Given the description of an element on the screen output the (x, y) to click on. 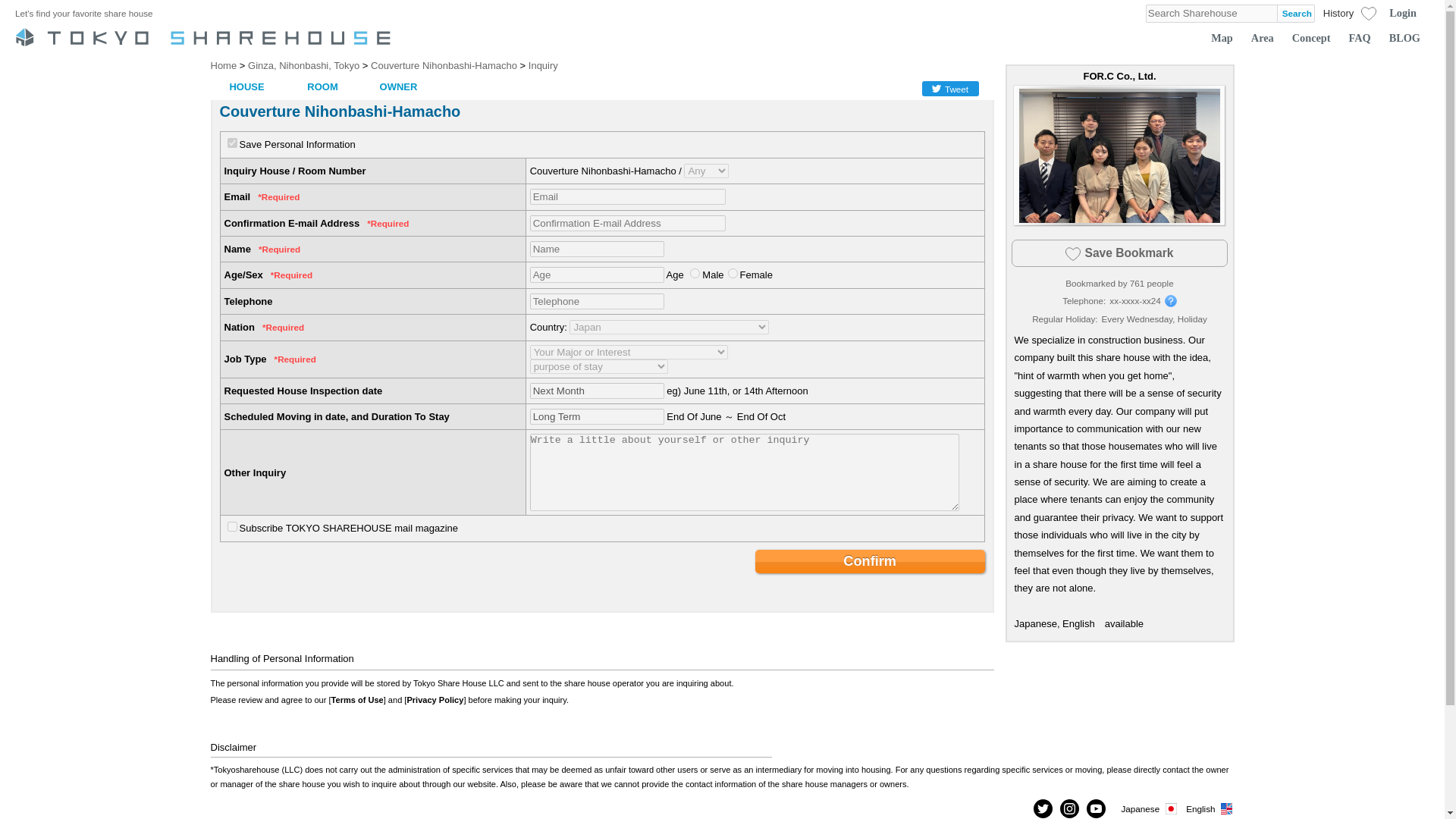
2 (733, 273)
BLOG (1404, 37)
Ginza, Nihonbashi, Tokyo (303, 65)
Japanese (1149, 808)
Search (1295, 13)
Confirm (870, 561)
Confirm (870, 561)
Inquiry (542, 65)
History (1338, 12)
Long Term (596, 416)
English (1209, 808)
Login (1403, 13)
FAQ (1359, 37)
Area (1262, 37)
Terms of Use (357, 699)
